Given the description of an element on the screen output the (x, y) to click on. 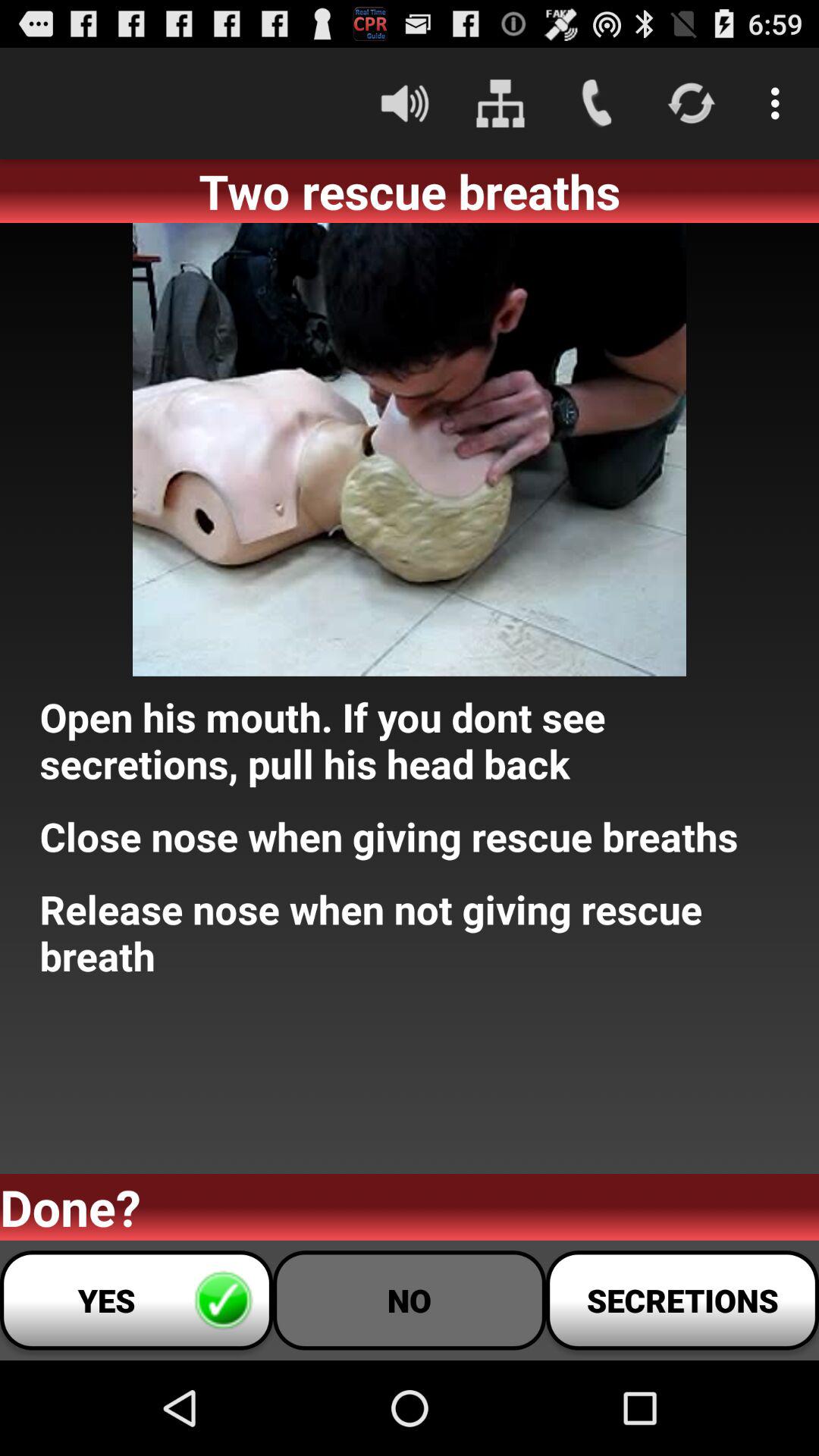
open button next to no icon (136, 1300)
